Given the description of an element on the screen output the (x, y) to click on. 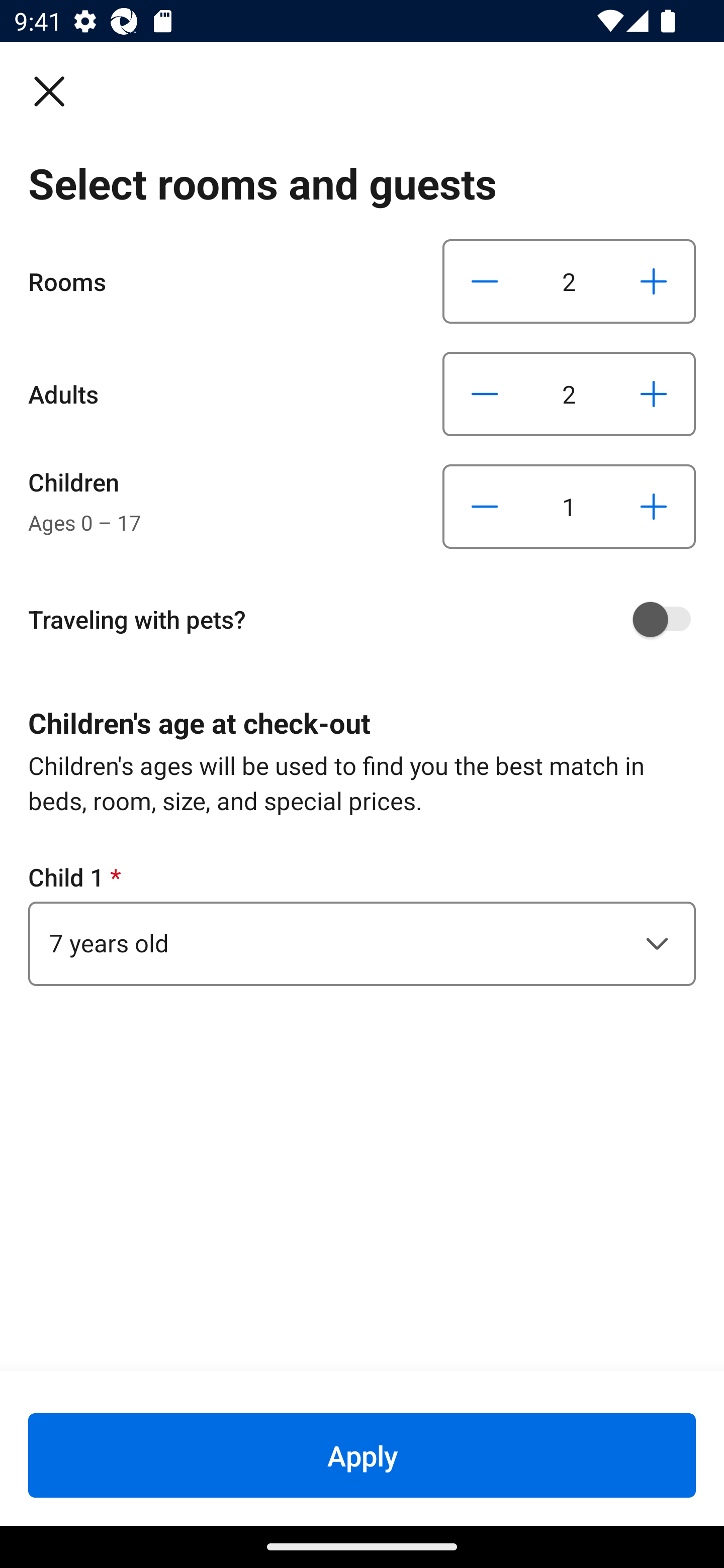
Decrease (484, 281)
Increase (653, 281)
Decrease (484, 393)
Increase (653, 393)
Decrease (484, 506)
Increase (653, 506)
Traveling with pets? (369, 619)
Child 1
required Child 1 * 7 years old (361, 922)
Apply (361, 1454)
